Given the description of an element on the screen output the (x, y) to click on. 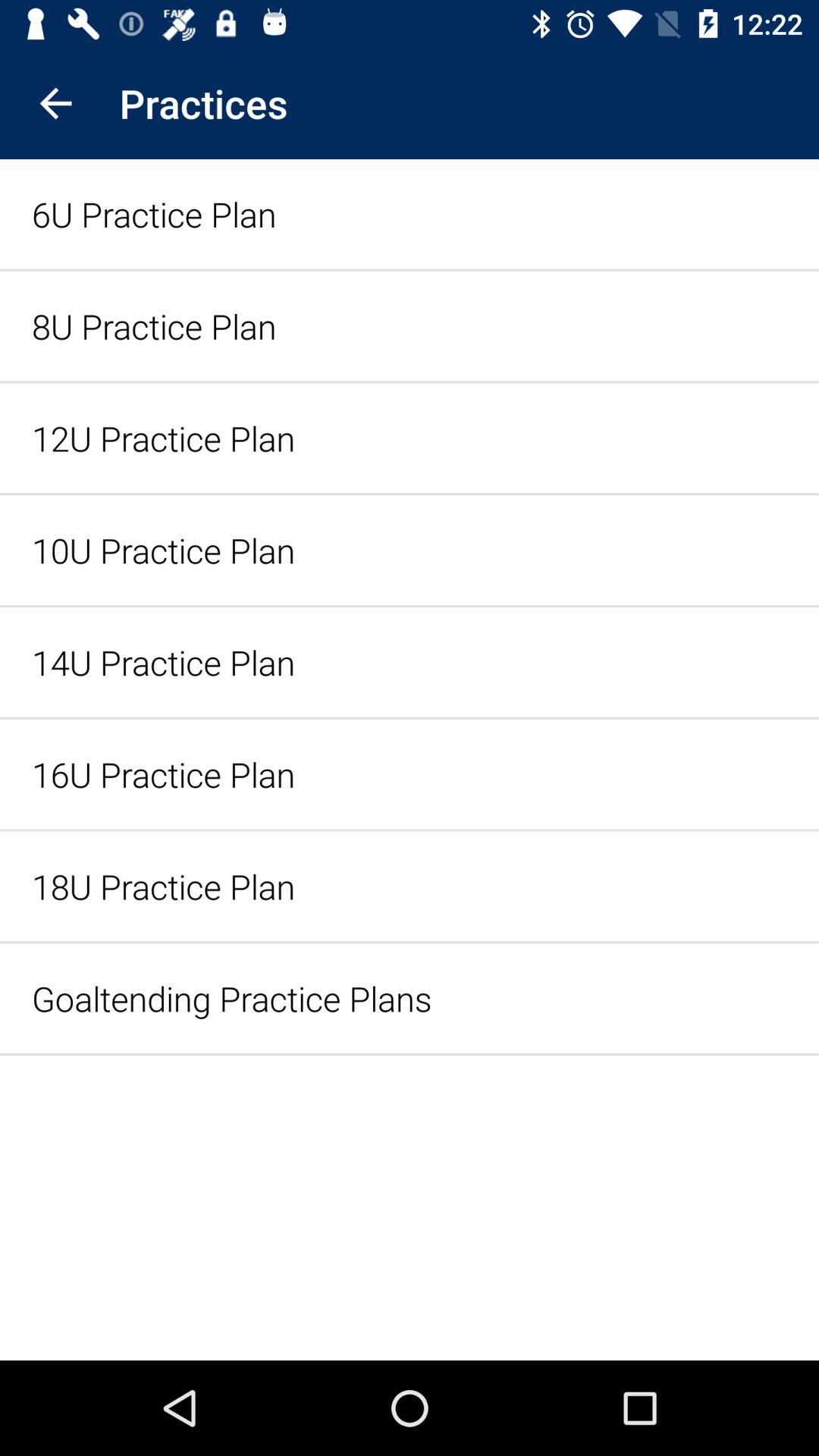
press the goaltending practice plans item (409, 998)
